Given the description of an element on the screen output the (x, y) to click on. 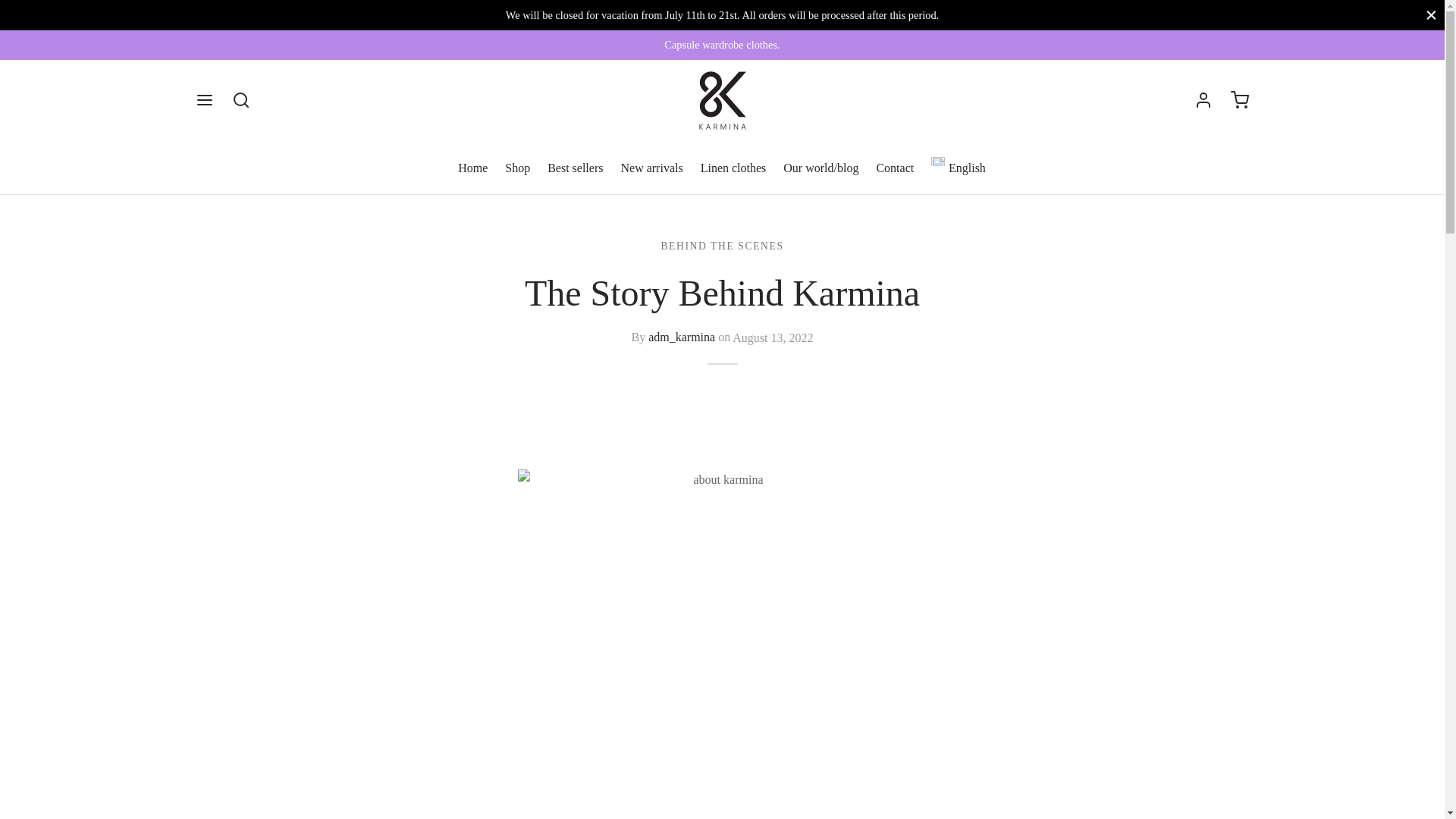
Shop (517, 167)
Best sellers (574, 167)
New arrivals (651, 167)
BEHIND THE SCENES (722, 245)
Contact (895, 167)
Home (472, 167)
English (958, 167)
Linen clothes (733, 167)
English (958, 167)
